Given the description of an element on the screen output the (x, y) to click on. 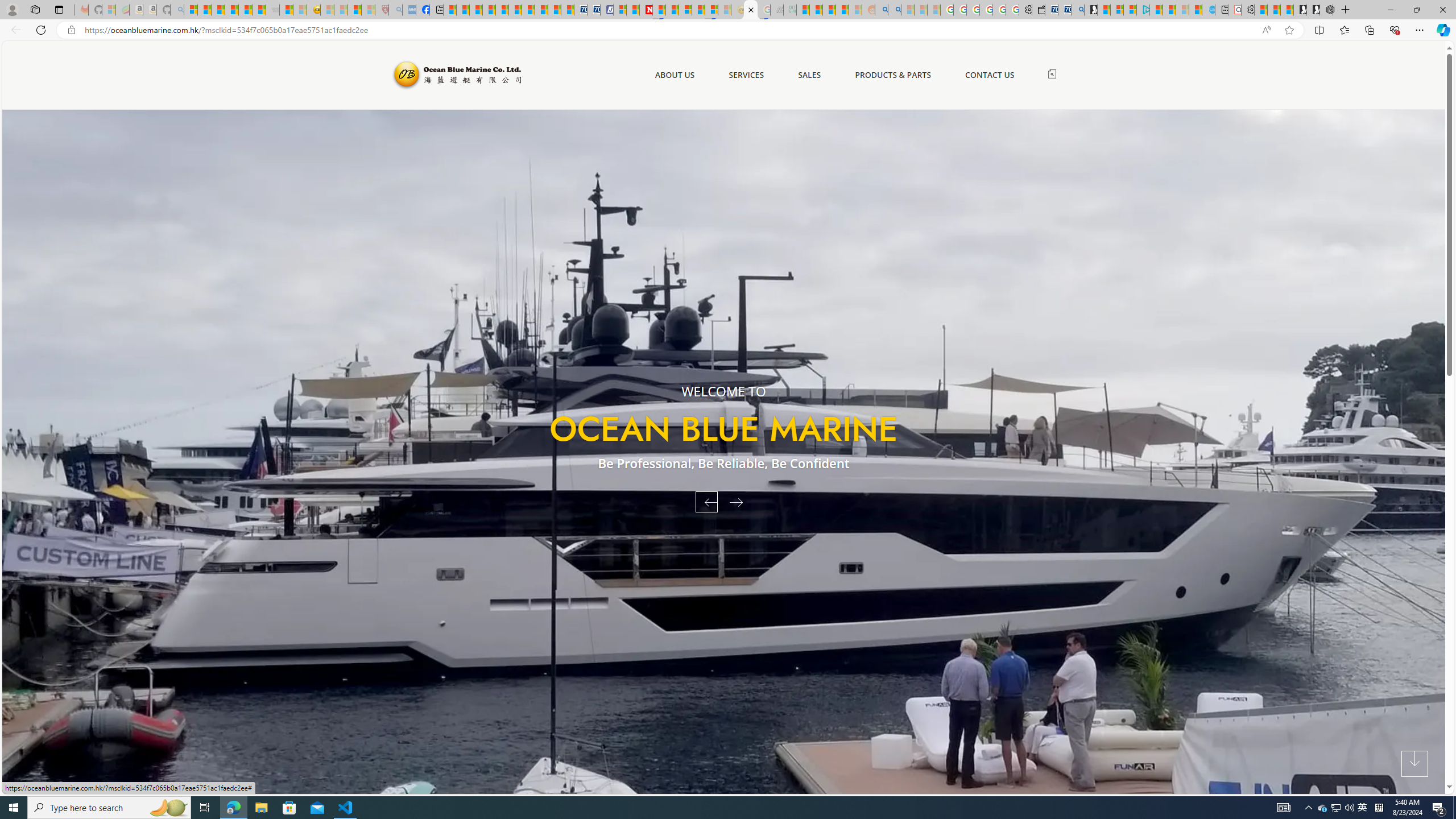
CONTACT US (989, 74)
ABOUT US (674, 75)
ABOUT US (674, 74)
Combat Siege - Sleeping (271, 9)
